Given the description of an element on the screen output the (x, y) to click on. 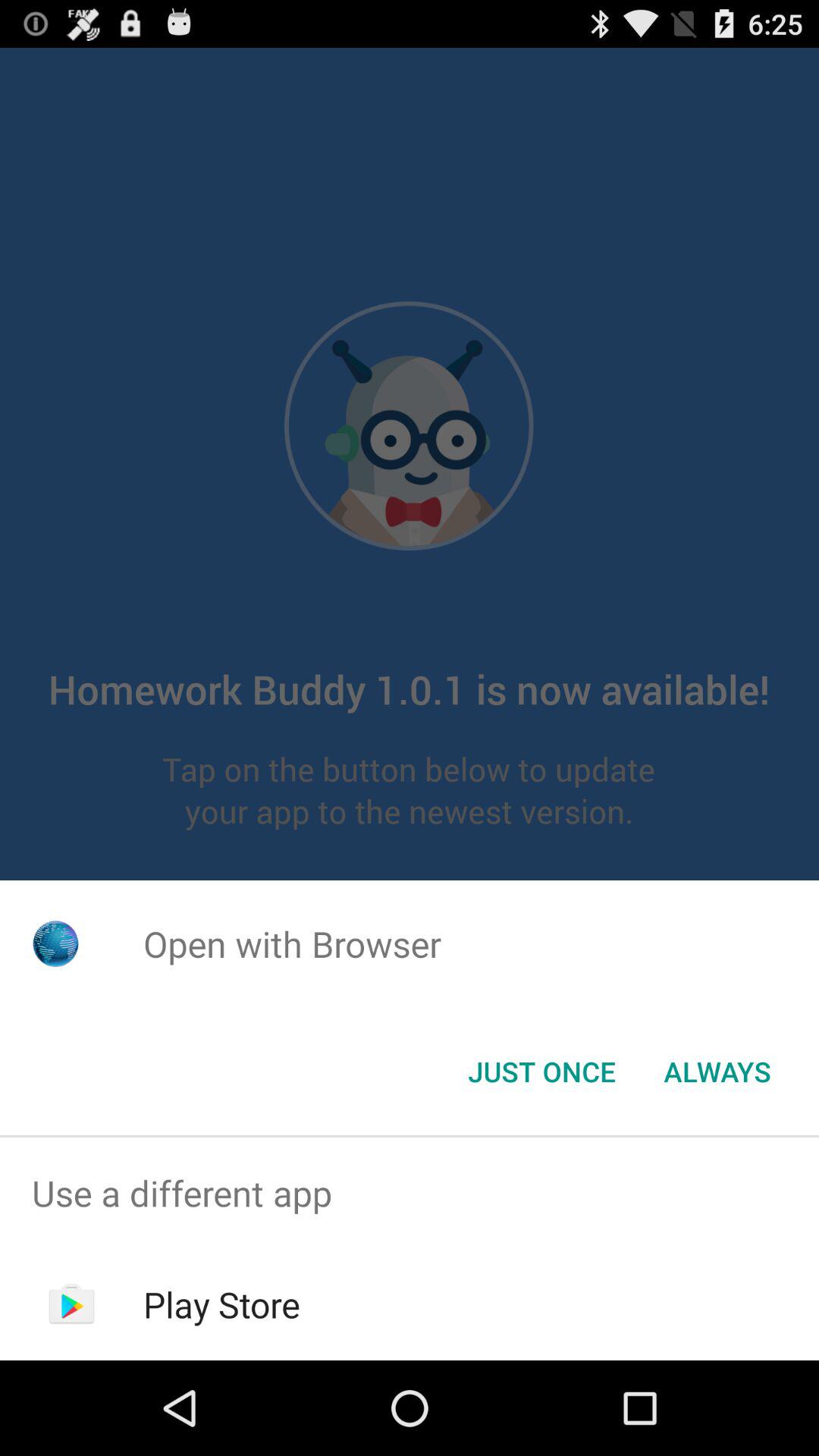
launch button at the bottom right corner (717, 1071)
